Given the description of an element on the screen output the (x, y) to click on. 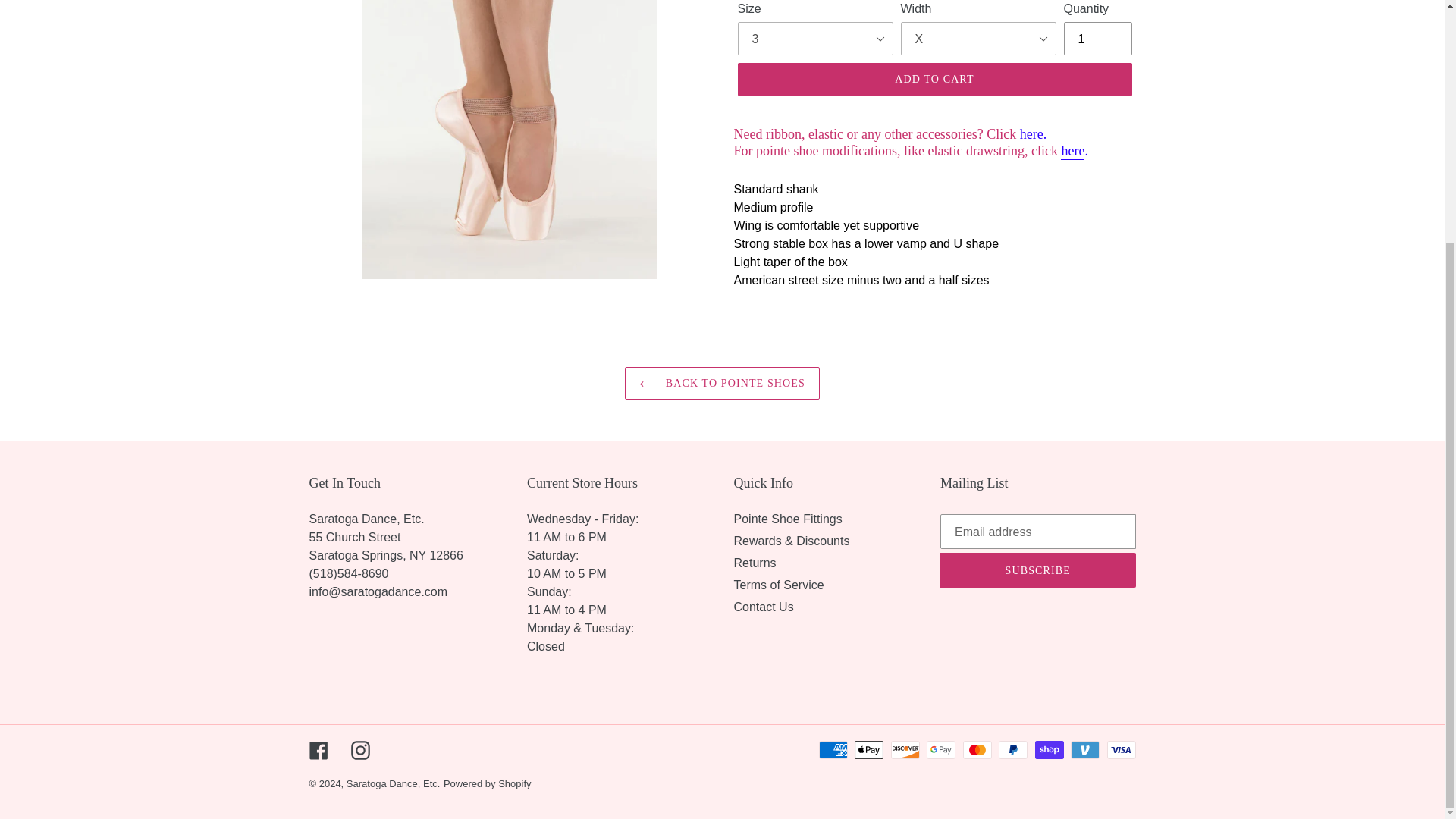
here (1072, 151)
Contact Us (378, 591)
Returns (754, 562)
Facebook (318, 750)
Instagram (359, 750)
Saratoga Dance, Etc. (393, 783)
Powered by Shopify (487, 783)
here (1031, 134)
Contact Us (763, 606)
Terms of Service (778, 584)
ADD TO CART (933, 79)
1 (1096, 38)
BACK TO POINTE SHOES (721, 382)
Pointe Shoe Fittings (788, 518)
